Given the description of an element on the screen output the (x, y) to click on. 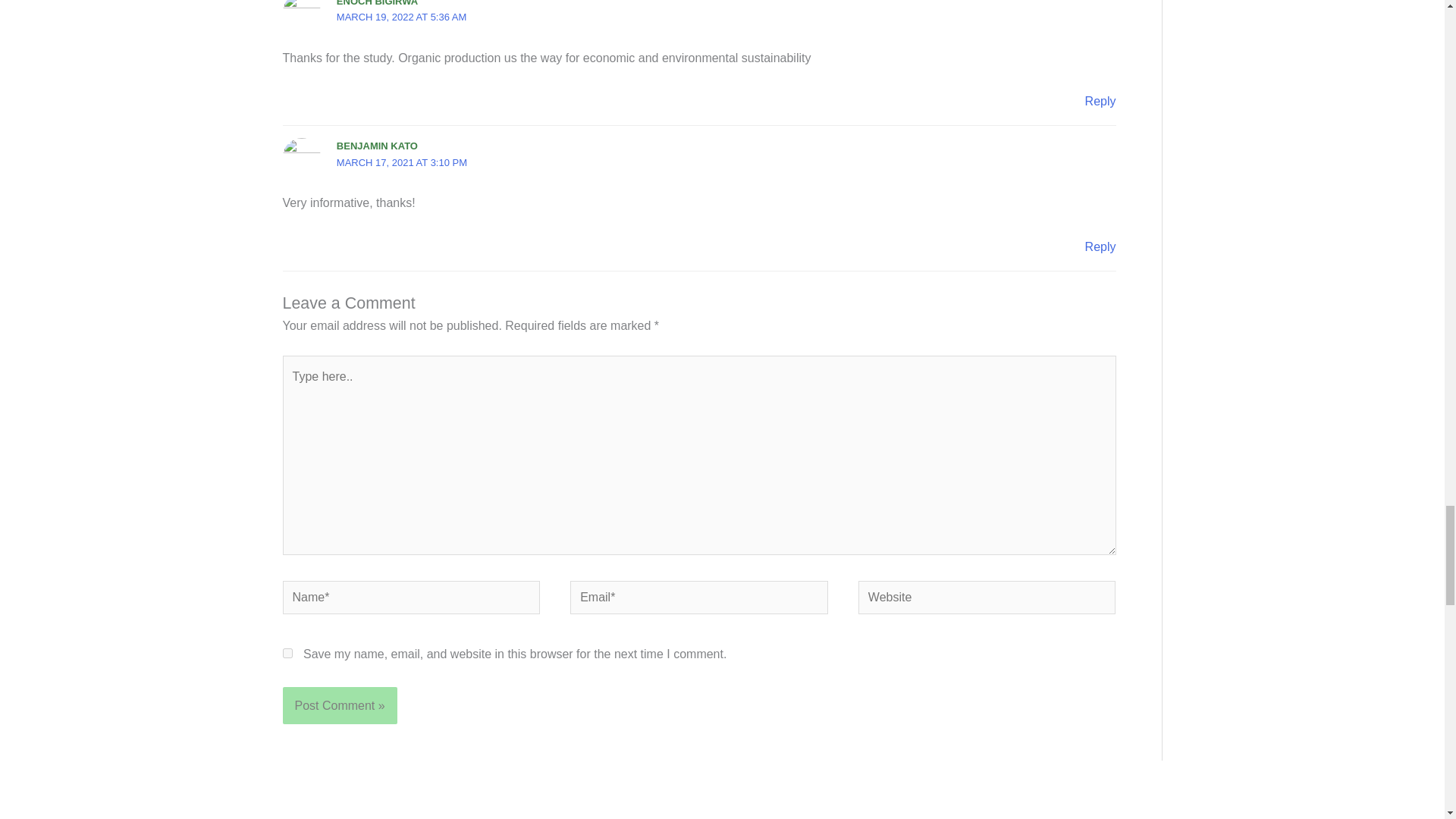
Reply (1100, 101)
MARCH 19, 2022 AT 5:36 AM (401, 16)
yes (287, 653)
MARCH 17, 2021 AT 3:10 PM (401, 162)
Reply (1100, 246)
